Given the description of an element on the screen output the (x, y) to click on. 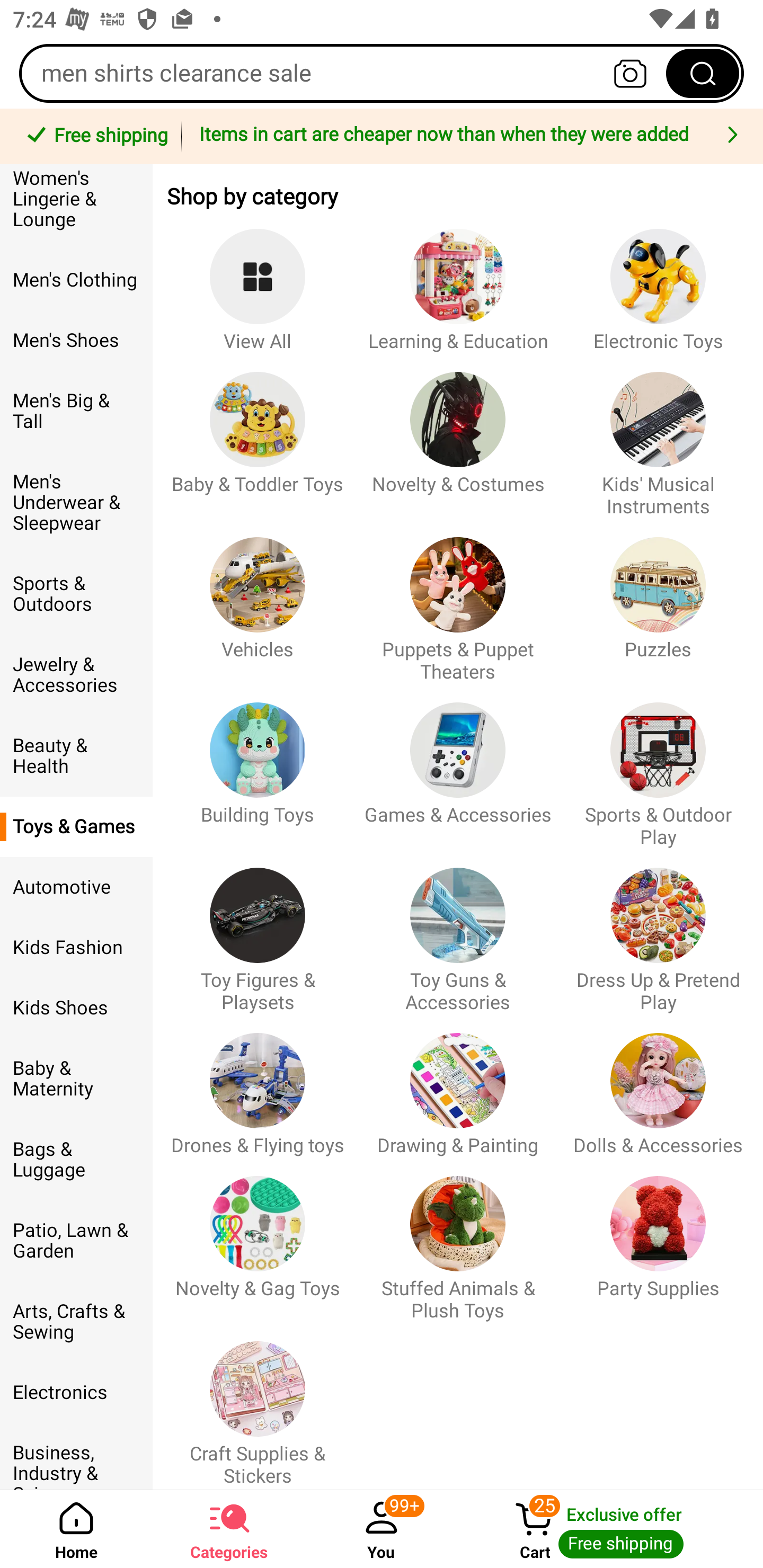
men shirts clearance sale (381, 73)
 Free shipping (93, 136)
Women's Lingerie & Lounge (76, 206)
View All (257, 281)
Learning & Education (457, 281)
Electronic Toys (657, 281)
Men's Clothing (76, 279)
Men's Shoes (76, 340)
Baby & Toddler Toys (257, 434)
Novelty & Costumes (457, 434)
Kids' Musical Instruments (657, 434)
Men's Big & Tall (76, 410)
Men's Underwear & Sleepwear (76, 502)
Vehicles (257, 600)
Puppets & Puppet Theaters (457, 600)
Puzzles (657, 600)
Sports & Outdoors (76, 594)
Jewelry & Accessories (76, 675)
Building Toys (257, 765)
Games & Accessories (457, 765)
Sports & Outdoor Play (657, 765)
Beauty & Health (76, 755)
Toys & Games (76, 826)
Toy Figures & Playsets (257, 931)
Toy Guns & Accessories (457, 931)
Dress Up & Pretend Play (657, 931)
Automotive (76, 887)
Kids Fashion (76, 947)
Kids Shoes (76, 1008)
Drones & Flying toys (257, 1085)
Drawing & Painting (457, 1085)
Dolls & Accessories (657, 1085)
Baby & Maternity (76, 1078)
Bags & Luggage (76, 1160)
Novelty & Gag Toys (257, 1239)
Stuffed Animals & Plush Toys (457, 1239)
Party Supplies (657, 1239)
Patio, Lawn & Garden (76, 1241)
Arts, Crafts & Sewing (76, 1321)
Craft Supplies & Stickers (257, 1404)
Electronics (76, 1392)
Business, Industry & Science (76, 1455)
Home (76, 1528)
Categories (228, 1528)
You ‎99+‎ You (381, 1528)
Cart 25 Cart Exclusive offer (610, 1528)
